Given the description of an element on the screen output the (x, y) to click on. 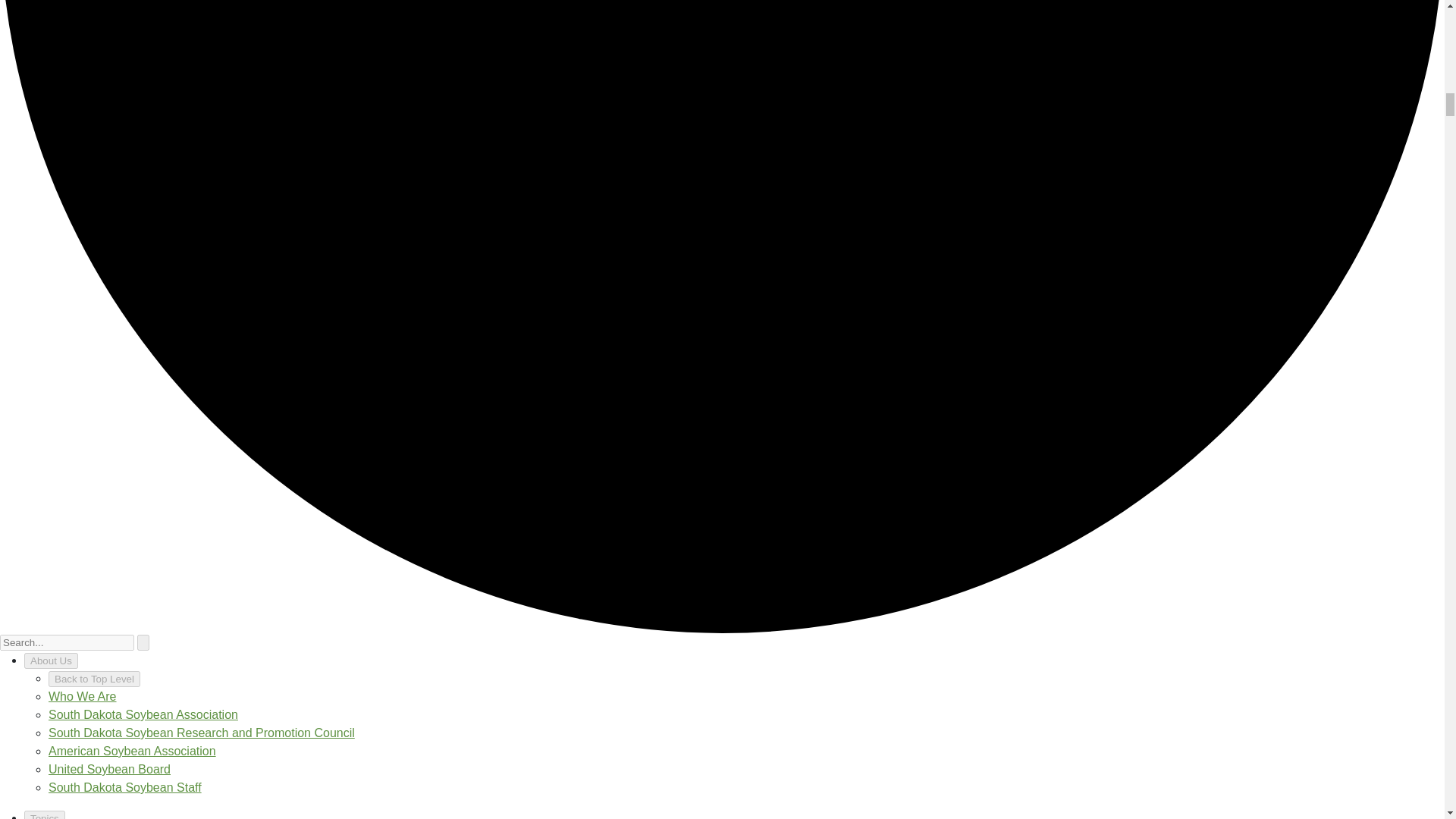
Back to Top Level (93, 678)
About Us (51, 660)
United Soybean Board (109, 768)
South Dakota Soybean Staff (125, 787)
South Dakota Soybean Research and Promotion Council (201, 732)
Topics (44, 814)
South Dakota Soybean Association (143, 714)
American Soybean Association (131, 750)
Who We Are (82, 696)
